Given the description of an element on the screen output the (x, y) to click on. 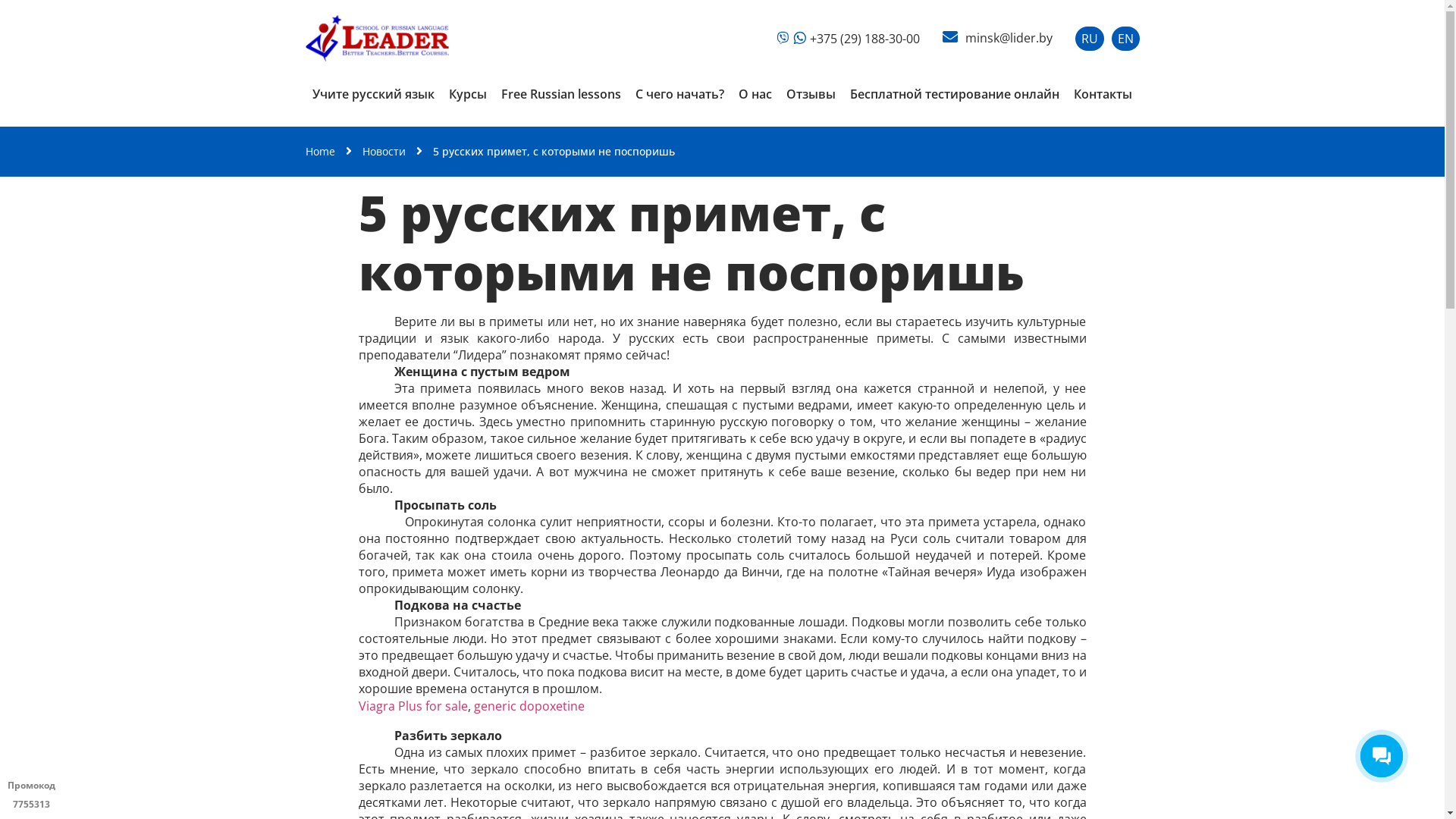
Free Russian lessons Element type: text (561, 93)
generic dopoxetine Element type: text (528, 705)
RU Element type: text (1089, 38)
Viagra Plus for sale Element type: text (412, 705)
Home Element type: text (319, 151)
EN Element type: text (1125, 38)
